Given the description of an element on the screen output the (x, y) to click on. 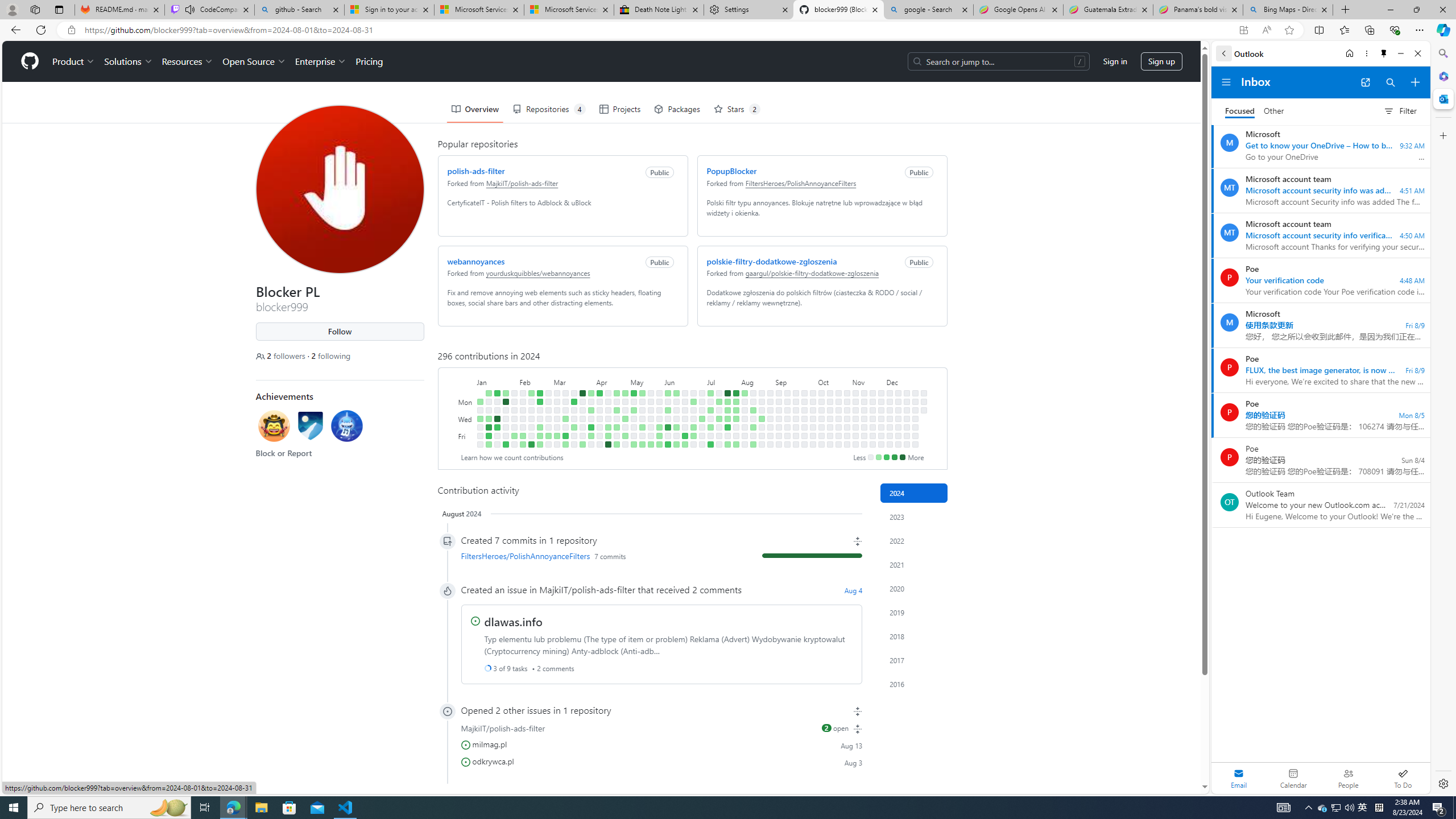
Thursday (465, 427)
No contributions on December 20th. (906, 435)
No contributions on December 6th. (889, 435)
No contributions on April 17th. (607, 418)
1 contribution on April 25th. (616, 427)
No contributions on June 18th. (684, 410)
No contributions on November 10th. (863, 392)
Focused (1239, 110)
No contributions on March 27th. (582, 418)
No contributions on February 27th. (547, 410)
Enterprise (319, 60)
No contributions on May 22nd. (650, 418)
Calendar. Date today is 22 (1293, 777)
